Given the description of an element on the screen output the (x, y) to click on. 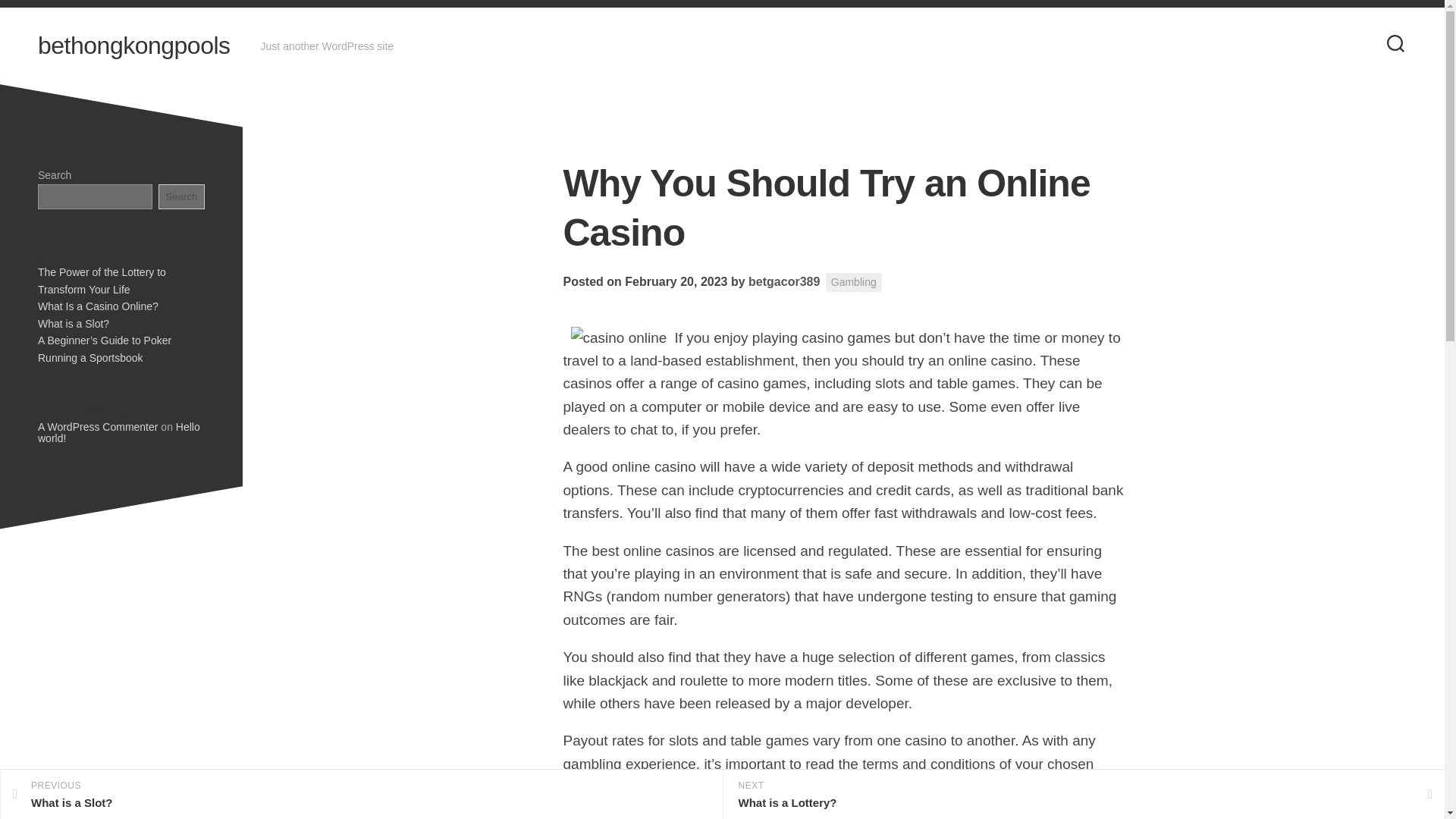
What is a Slot? (73, 322)
A WordPress Commenter (97, 426)
Search (181, 195)
bethongkongpools (361, 794)
What Is a Casino Online? (133, 44)
betgacor389 (97, 306)
Hello world! (783, 281)
Posts by betgacor389 (118, 431)
Running a Sportsbook (783, 281)
